Given the description of an element on the screen output the (x, y) to click on. 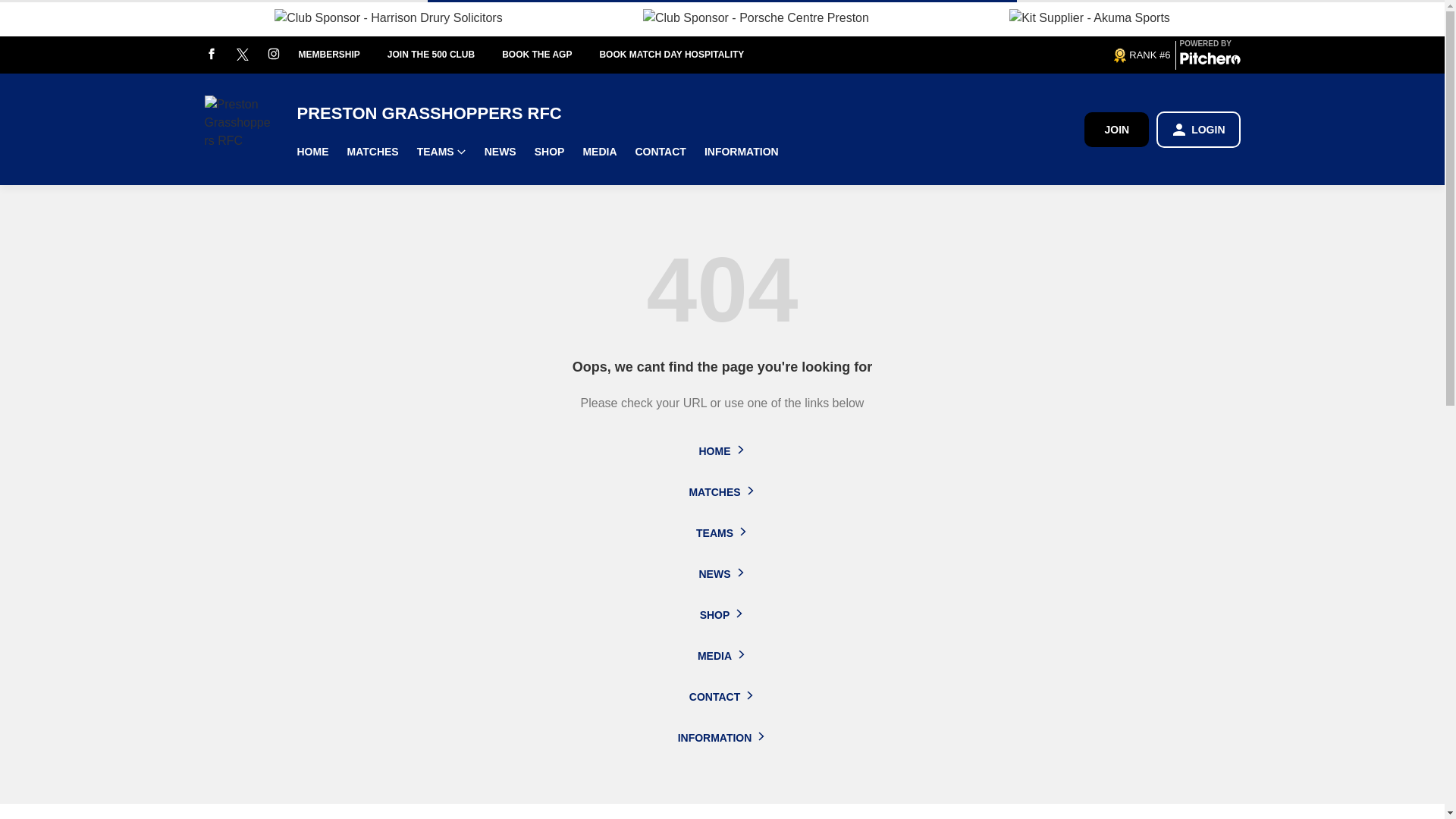
Pitchero (1209, 61)
INFORMATION (741, 152)
NEWS (500, 152)
JOIN (1116, 128)
Kit Supplier - Akuma Sports (1089, 18)
HOME (312, 152)
JOIN (1116, 129)
BOOK THE AGP (550, 54)
BOOK MATCH DAY HOSPITALITY (684, 54)
MATCHES (372, 152)
